Given the description of an element on the screen output the (x, y) to click on. 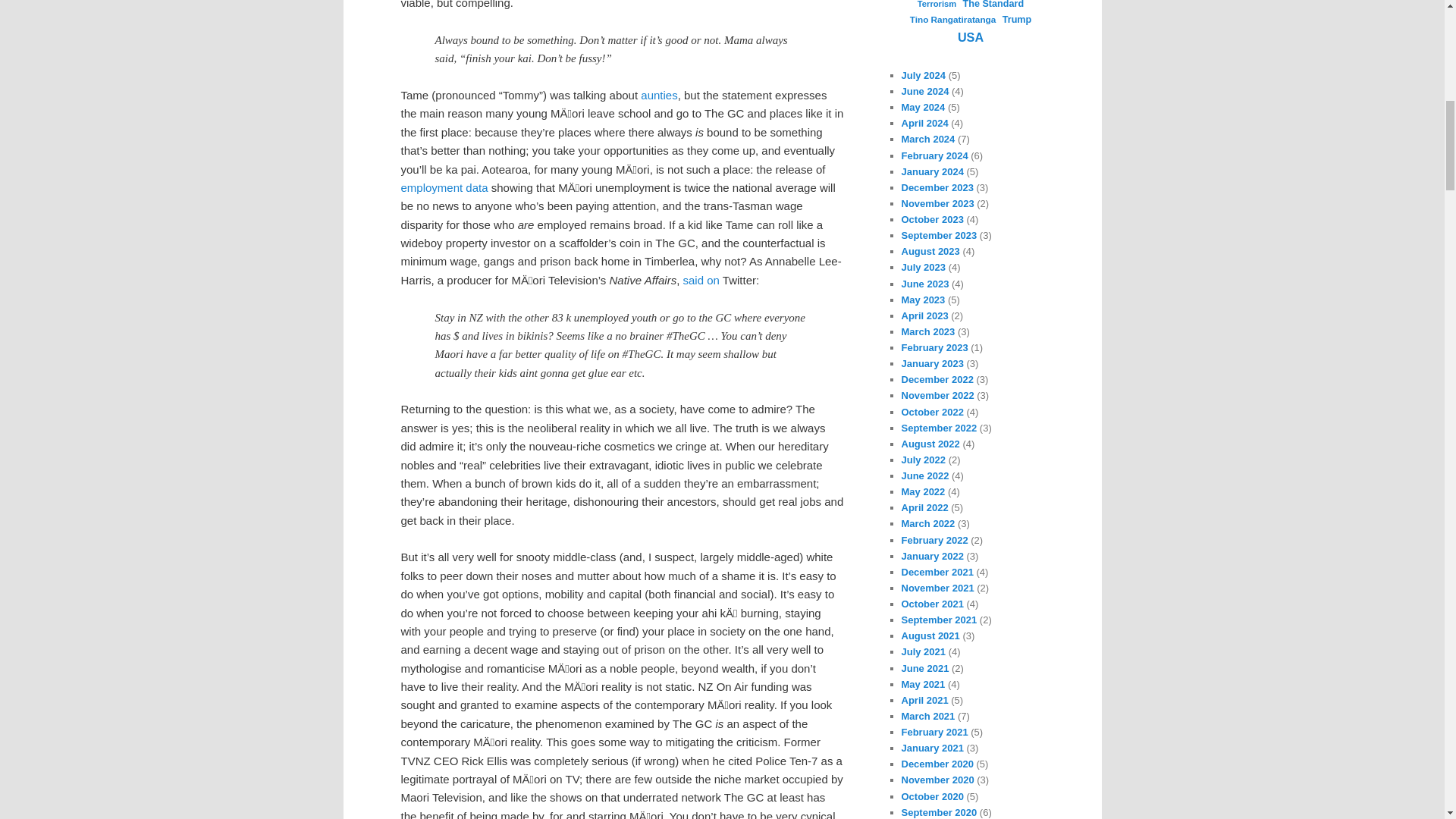
aunties (658, 94)
said (693, 279)
employment data (443, 187)
on (712, 279)
